Given the description of an element on the screen output the (x, y) to click on. 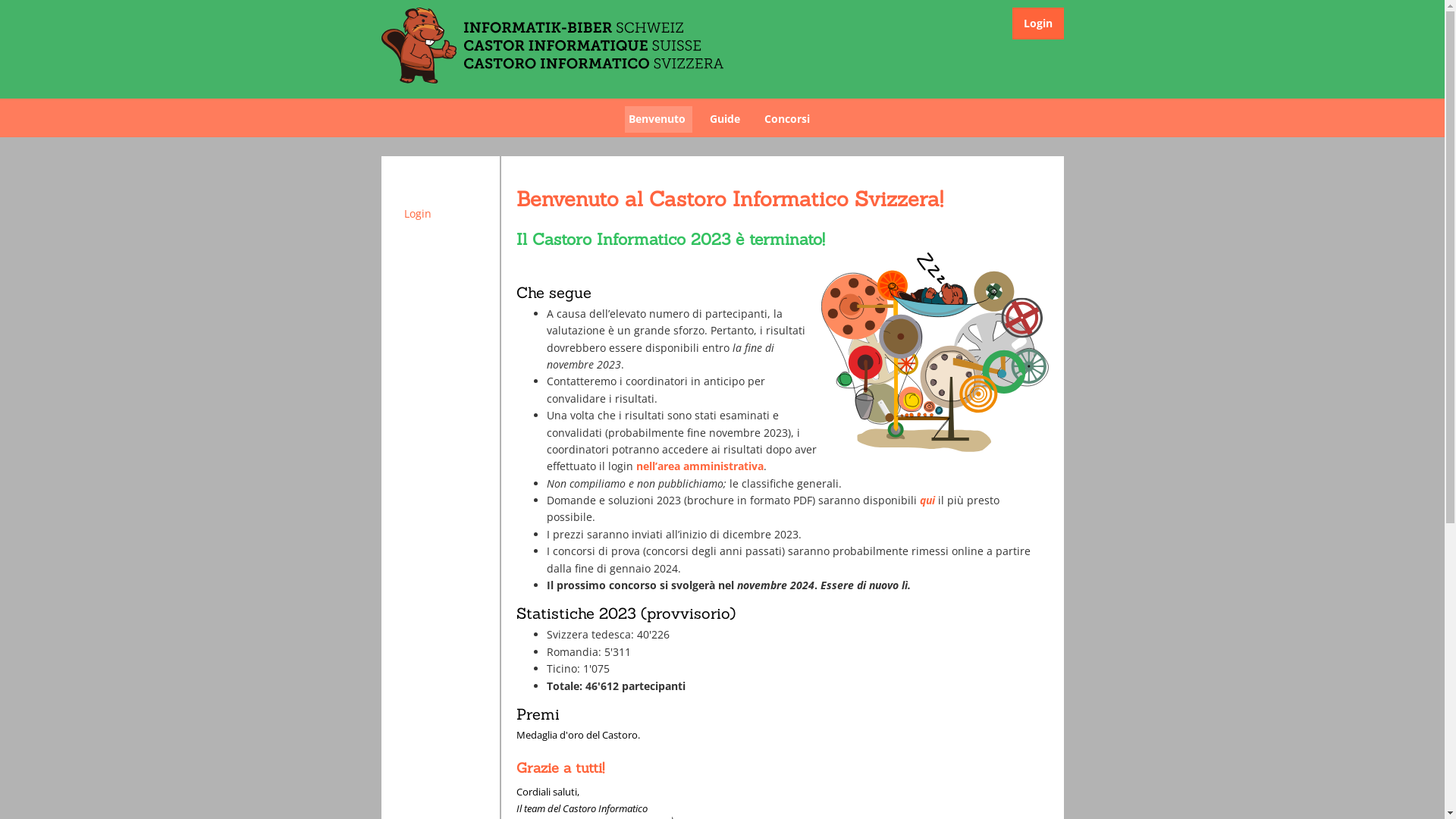
qui Element type: text (927, 499)
Guide Element type: text (727, 117)
Concorsi Element type: text (789, 117)
Login Element type: text (1037, 22)
Benvenuto Element type: text (660, 117)
Login Element type: text (441, 213)
